Given the description of an element on the screen output the (x, y) to click on. 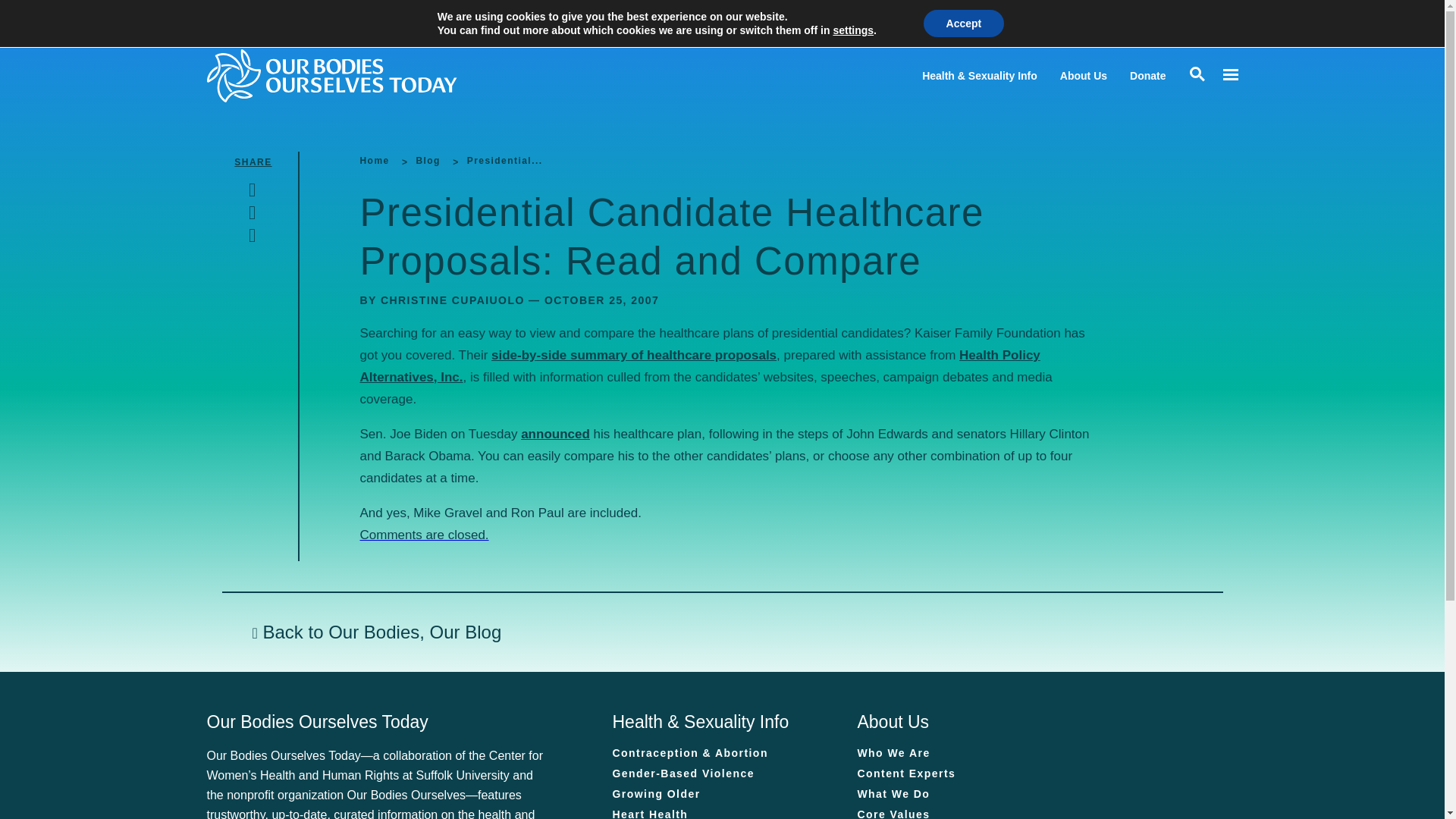
About Us (1083, 75)
Blog (426, 160)
Our Bodies Ourselves Today (361, 75)
Search (15, 15)
Home (373, 160)
Donate (1147, 75)
Expand navigation (1229, 75)
